Given the description of an element on the screen output the (x, y) to click on. 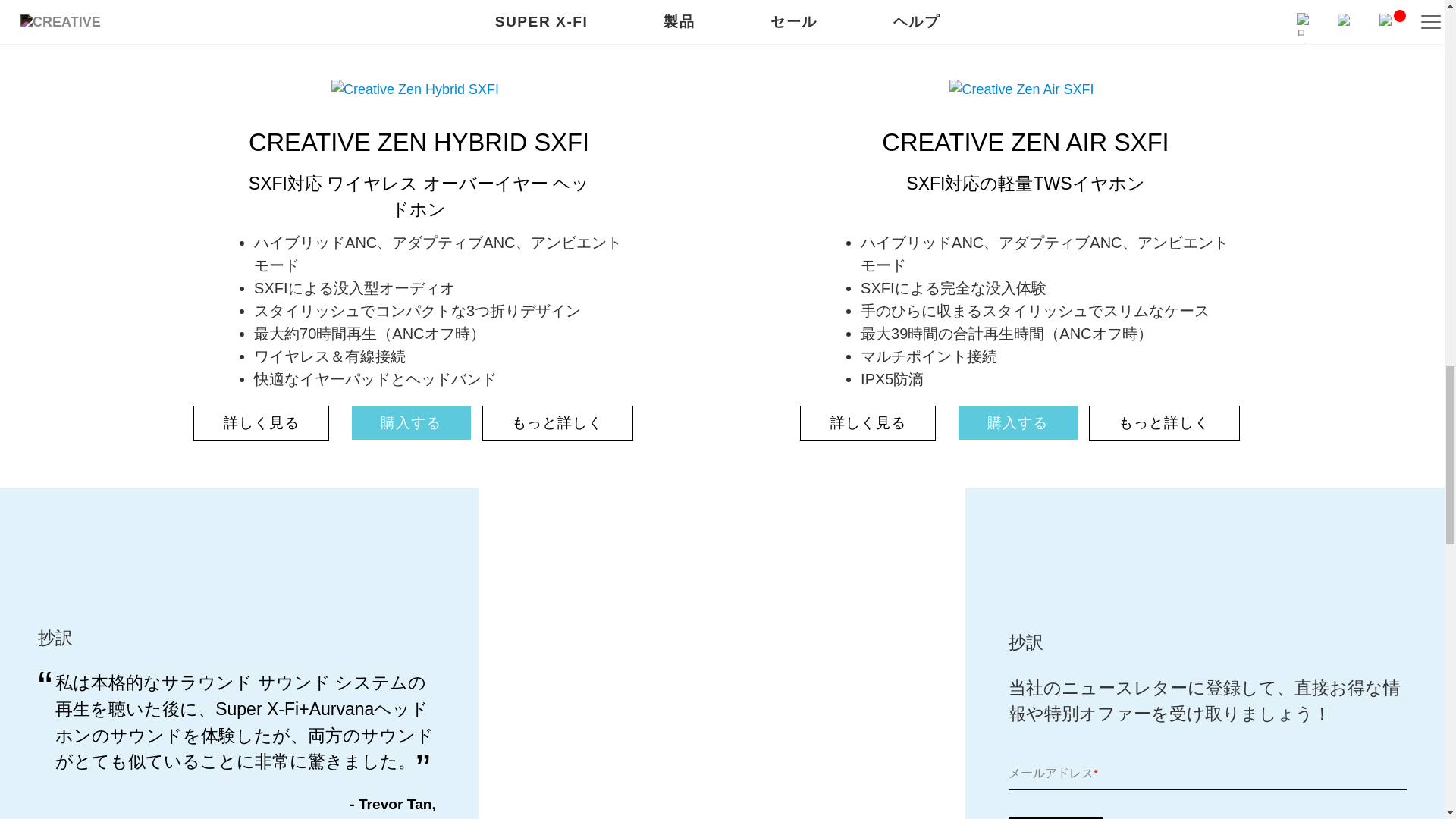
Email Address (1207, 784)
